Given the description of an element on the screen output the (x, y) to click on. 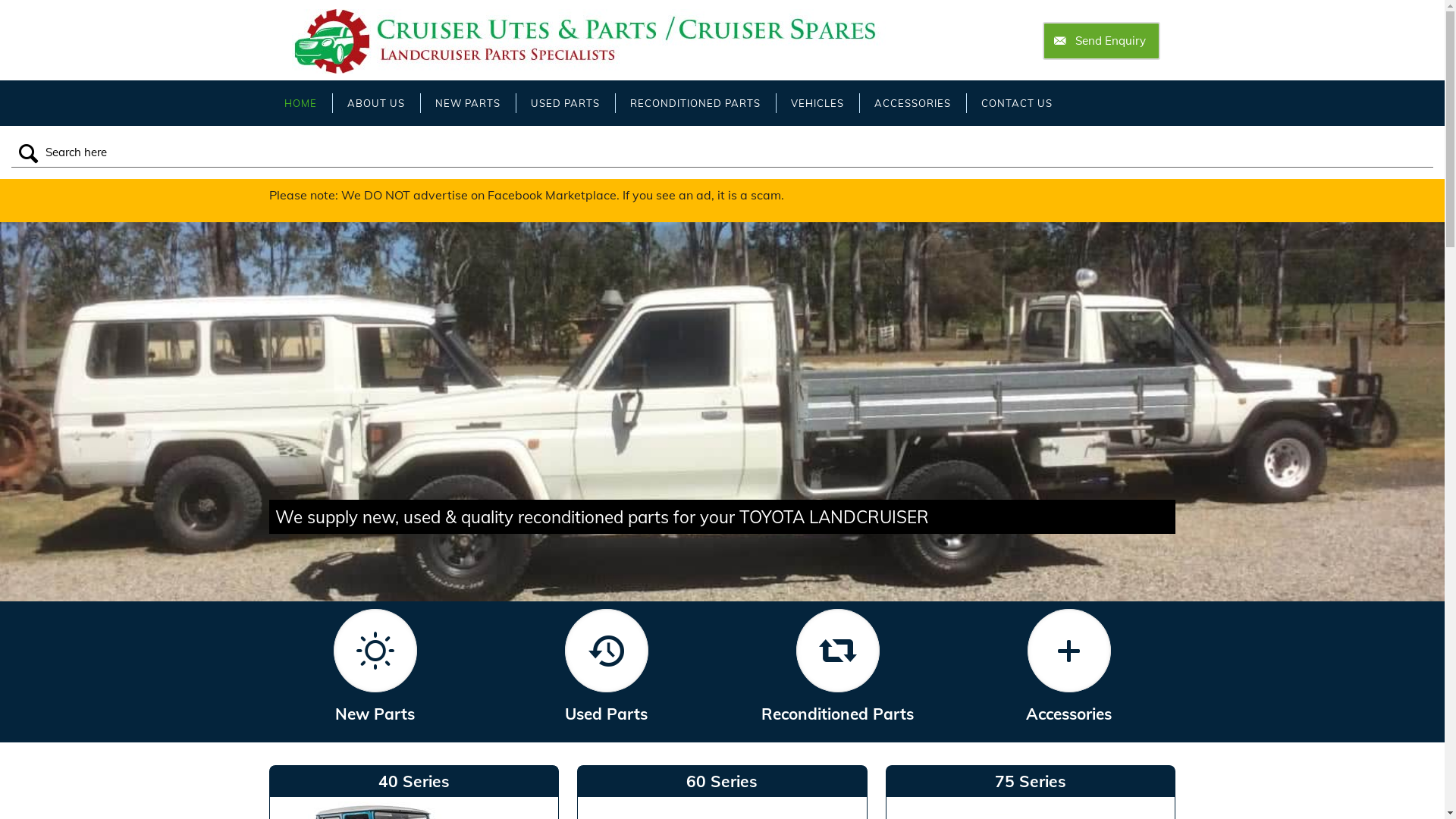
CONTACT US Element type: text (1016, 102)
HOME Element type: text (300, 102)
NEW PARTS Element type: text (467, 102)
Accessories Element type: text (1069, 665)
Cruiser Utes & Parts / Cruiser Spares Element type: hover (589, 40)
VEHICLES Element type: text (817, 102)
Used Parts Element type: text (606, 665)
ACCESSORIES Element type: text (912, 102)
Send Enquiry Element type: text (1101, 40)
ABOUT US Element type: text (376, 102)
USED PARTS Element type: text (565, 102)
New Parts Element type: text (375, 665)
RECONDITIONED PARTS Element type: text (695, 102)
Reconditioned Parts Element type: text (838, 665)
